Given the description of an element on the screen output the (x, y) to click on. 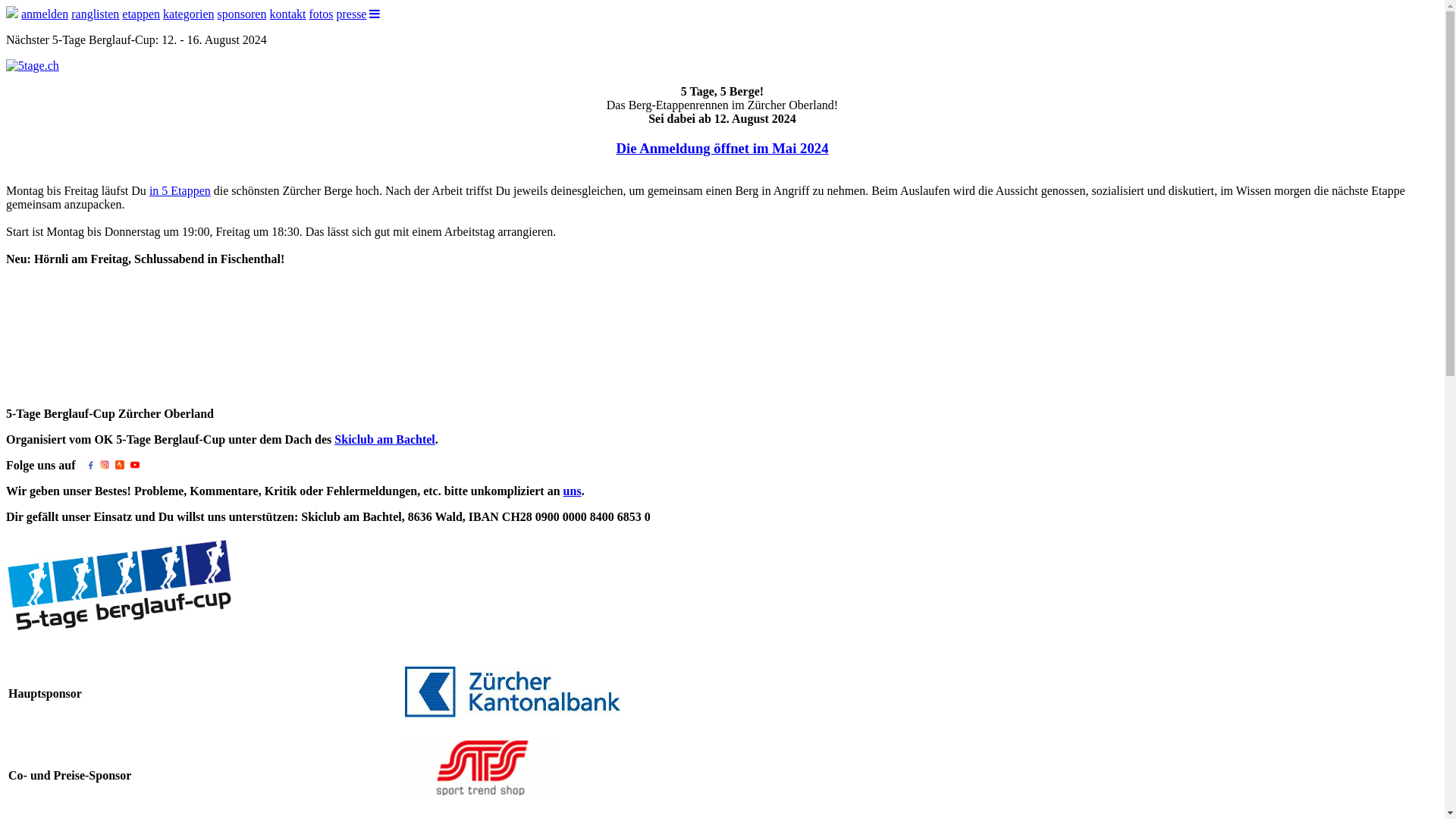
kontakt Element type: text (287, 13)
presse Element type: text (350, 13)
sponsoren Element type: text (241, 13)
in 5 Etappen Element type: text (179, 190)
ranglisten Element type: text (95, 13)
fotos Element type: text (320, 13)
Skiclub am Bachtel Element type: text (384, 439)
anmelden Element type: text (44, 13)
uns Element type: text (572, 490)
YouTube video player Element type: hover (119, 335)
kategorien Element type: text (188, 13)
etappen Element type: text (141, 13)
